Given the description of an element on the screen output the (x, y) to click on. 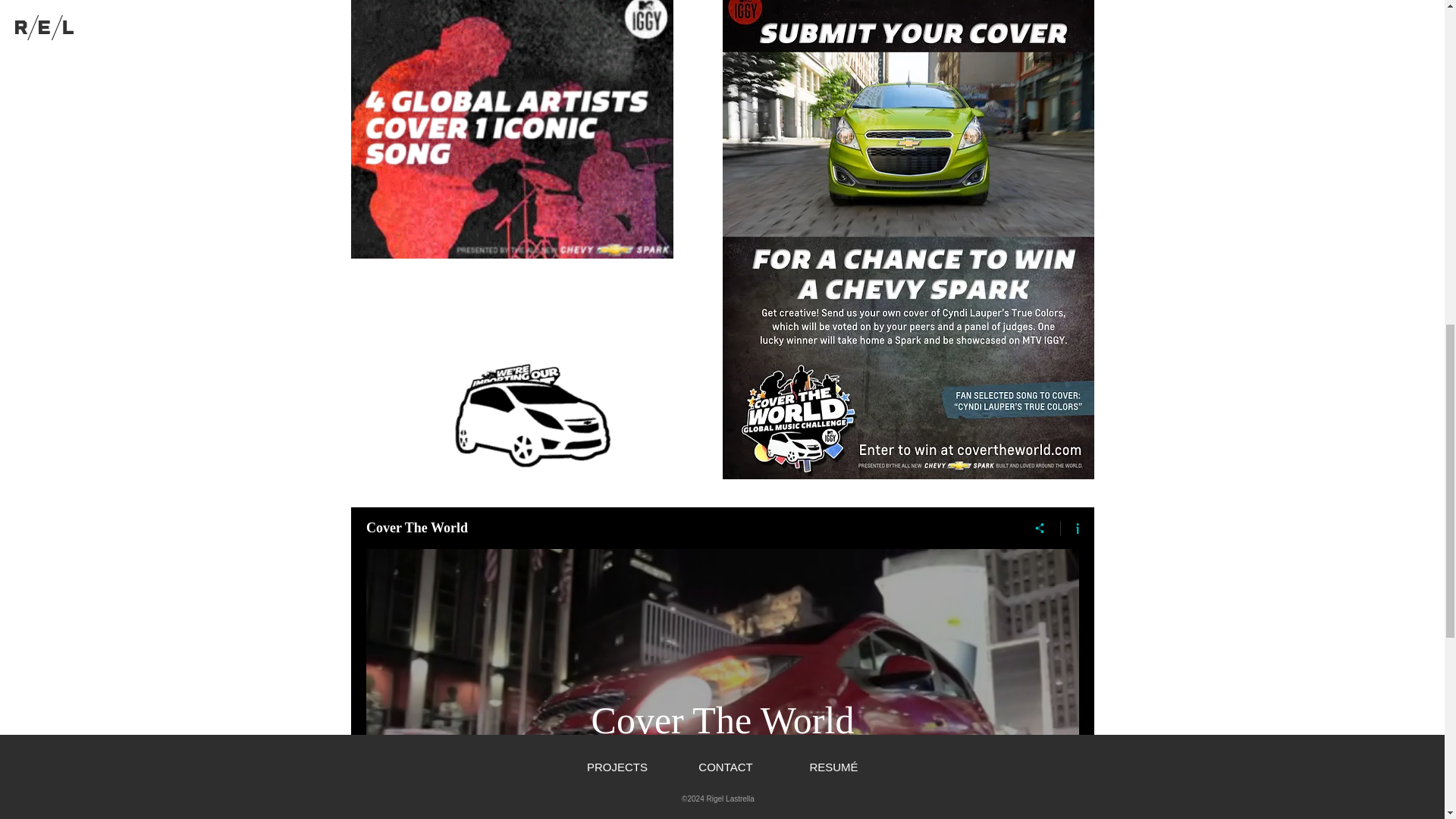
Cover The World (684, 527)
Play Video (721, 781)
Cover The World (721, 720)
